Given the description of an element on the screen output the (x, y) to click on. 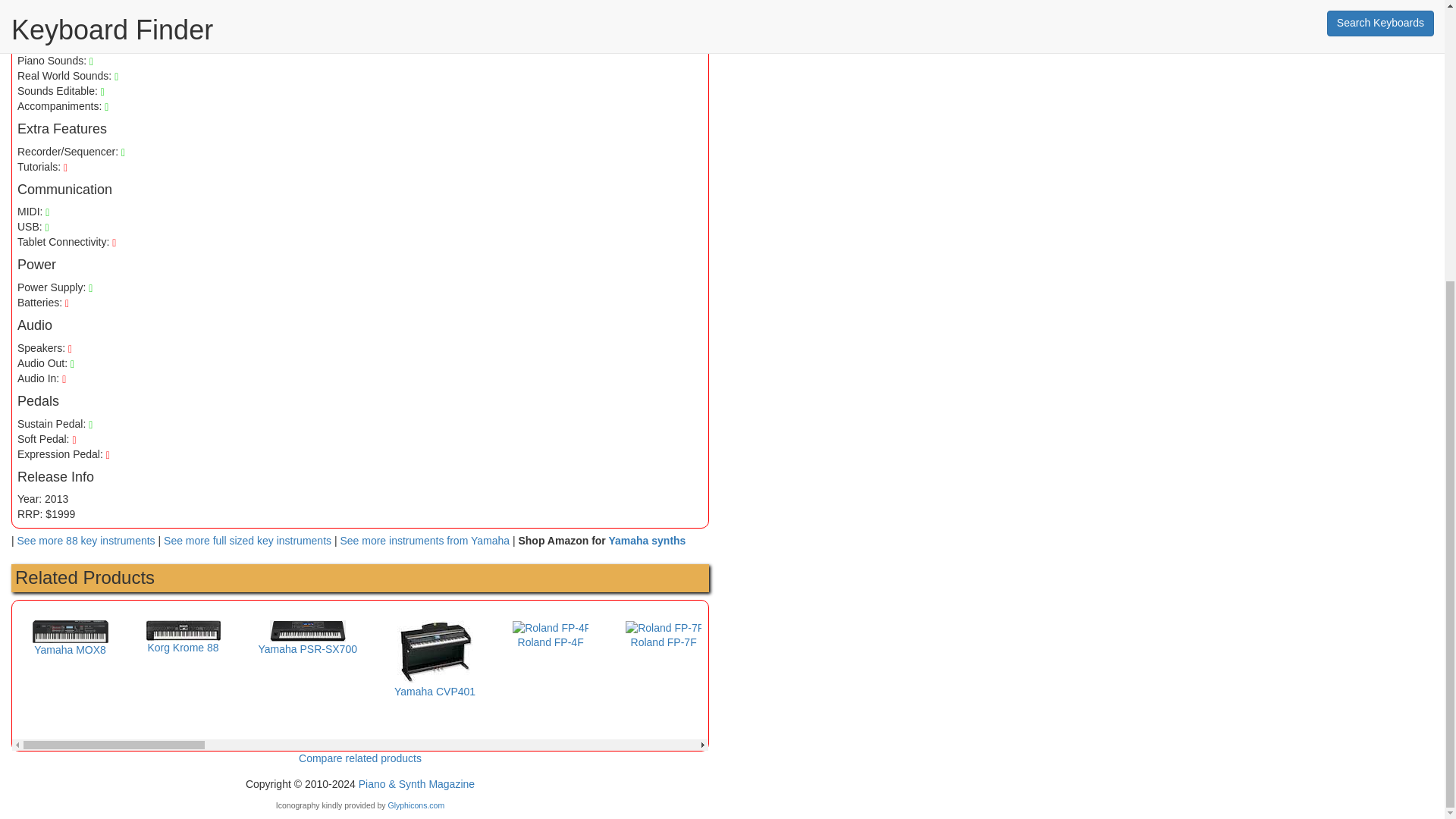
Yamaha MOX8 (69, 641)
Roland FP-4F (550, 635)
Roland FP-7F (663, 635)
See more instruments from Yamaha (424, 540)
Glyphicons.com (415, 804)
Yamaha CVP401 (435, 672)
Compare related products (360, 758)
See more 88 key instruments (86, 540)
Korg Krome 88 (183, 639)
See more full sized key instruments (247, 540)
Yamaha synths (646, 540)
Yamaha PSR-SX700 (306, 640)
